Given the description of an element on the screen output the (x, y) to click on. 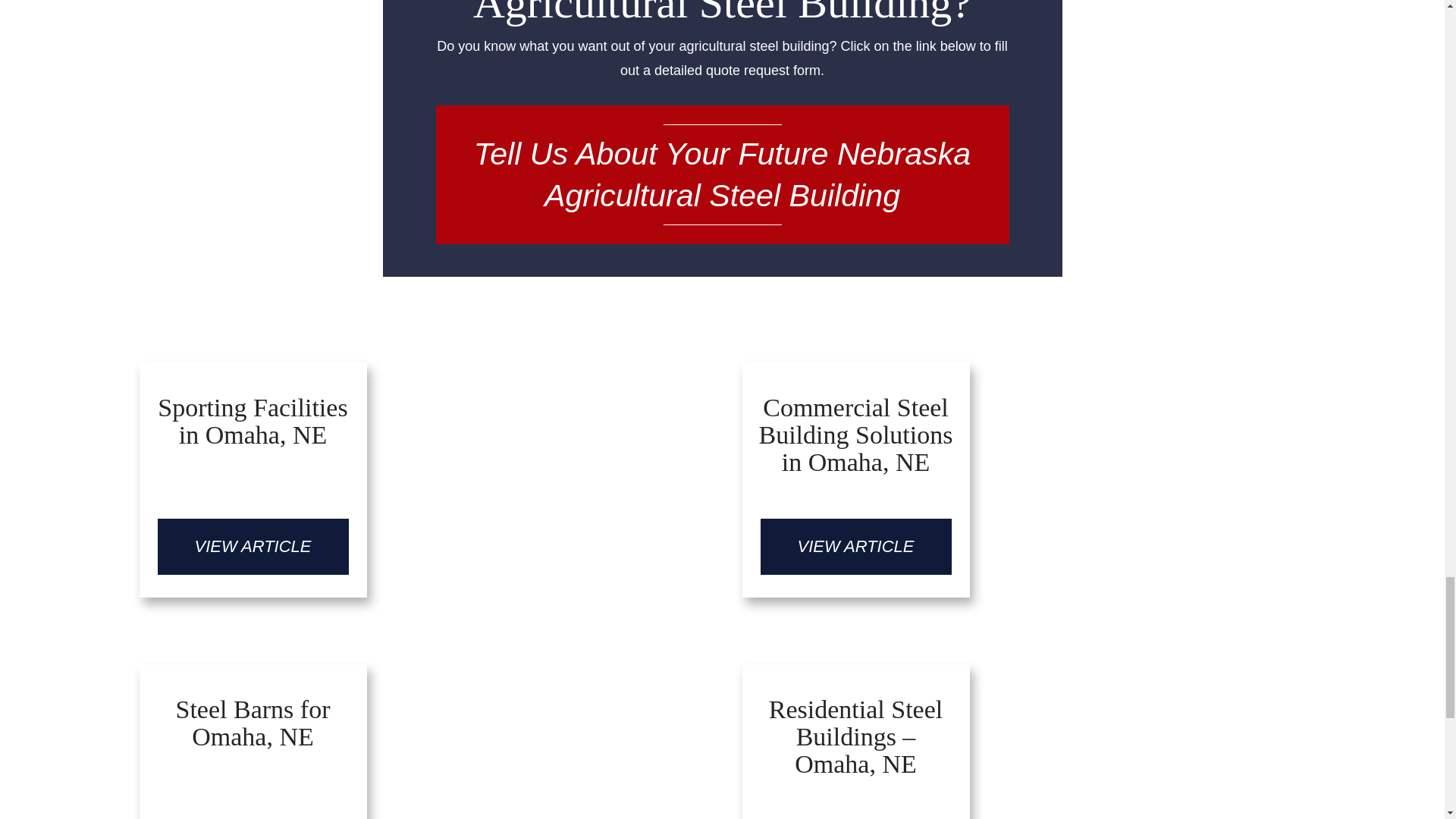
Commercial Steel Building Solutions in Omaha, NE (855, 440)
Commercial Steel Building Solutions in Omaha, NE (855, 440)
Steel Barns for Omaha, NE (252, 729)
Commercial Steel Building Solutions in Omaha, NE (855, 546)
Sporting Facilities in Omaha, NE (252, 426)
Steel Barns for Omaha, NE (252, 729)
Sporting Facilities in Omaha, NE (253, 546)
VIEW ARTICLE (855, 546)
VIEW ARTICLE (253, 546)
Sporting Facilities in Omaha, NE (252, 426)
Steel Barns for Omaha, NE (419, 732)
